Given the description of an element on the screen output the (x, y) to click on. 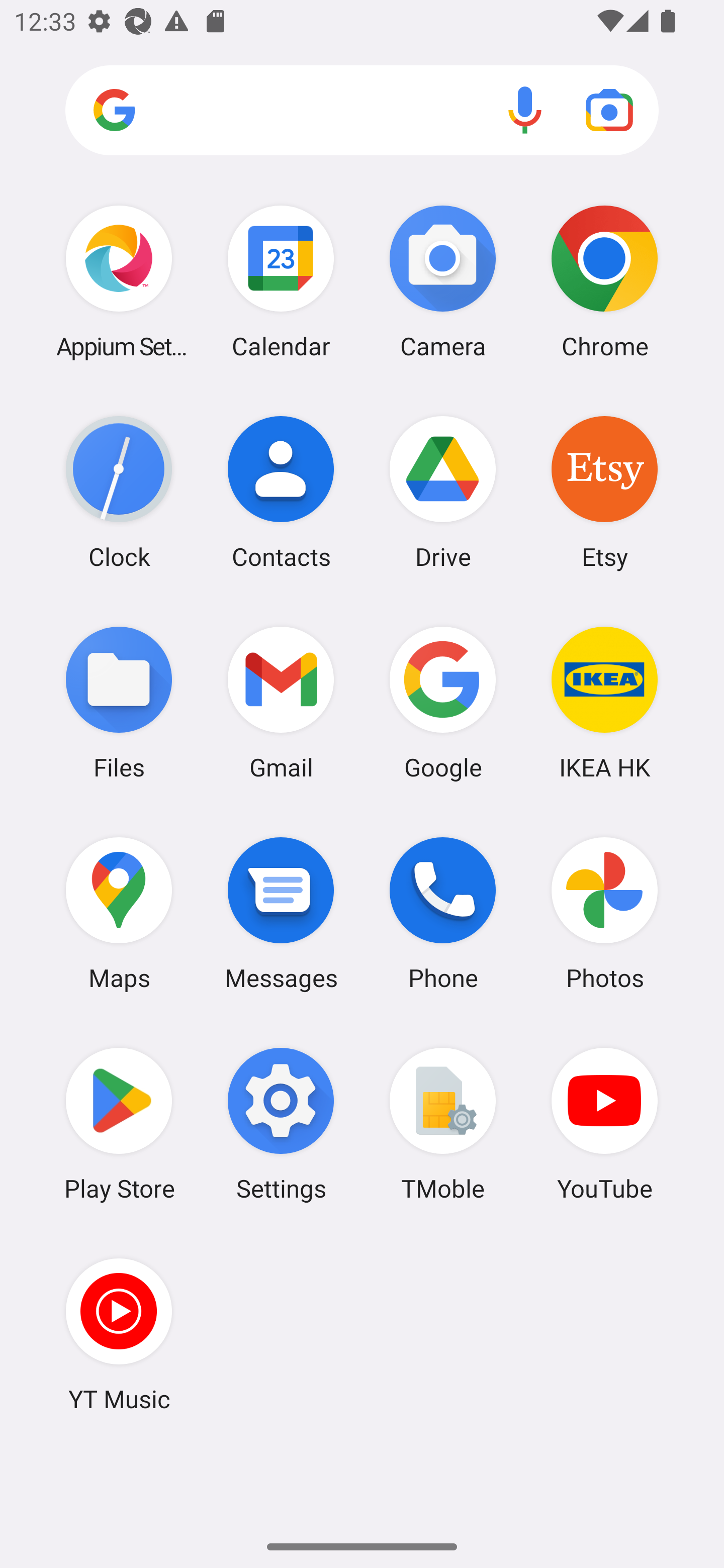
Search apps, web and more (361, 110)
Voice search (524, 109)
Google Lens (608, 109)
Appium Settings (118, 281)
Calendar (280, 281)
Camera (443, 281)
Chrome (604, 281)
Clock (118, 492)
Contacts (280, 492)
Drive (443, 492)
Etsy (604, 492)
Files (118, 702)
Gmail (280, 702)
Google (443, 702)
IKEA HK (604, 702)
Maps (118, 913)
Messages (280, 913)
Phone (443, 913)
Photos (604, 913)
Play Store (118, 1124)
Settings (280, 1124)
TMoble (443, 1124)
YouTube (604, 1124)
YT Music (118, 1334)
